Given the description of an element on the screen output the (x, y) to click on. 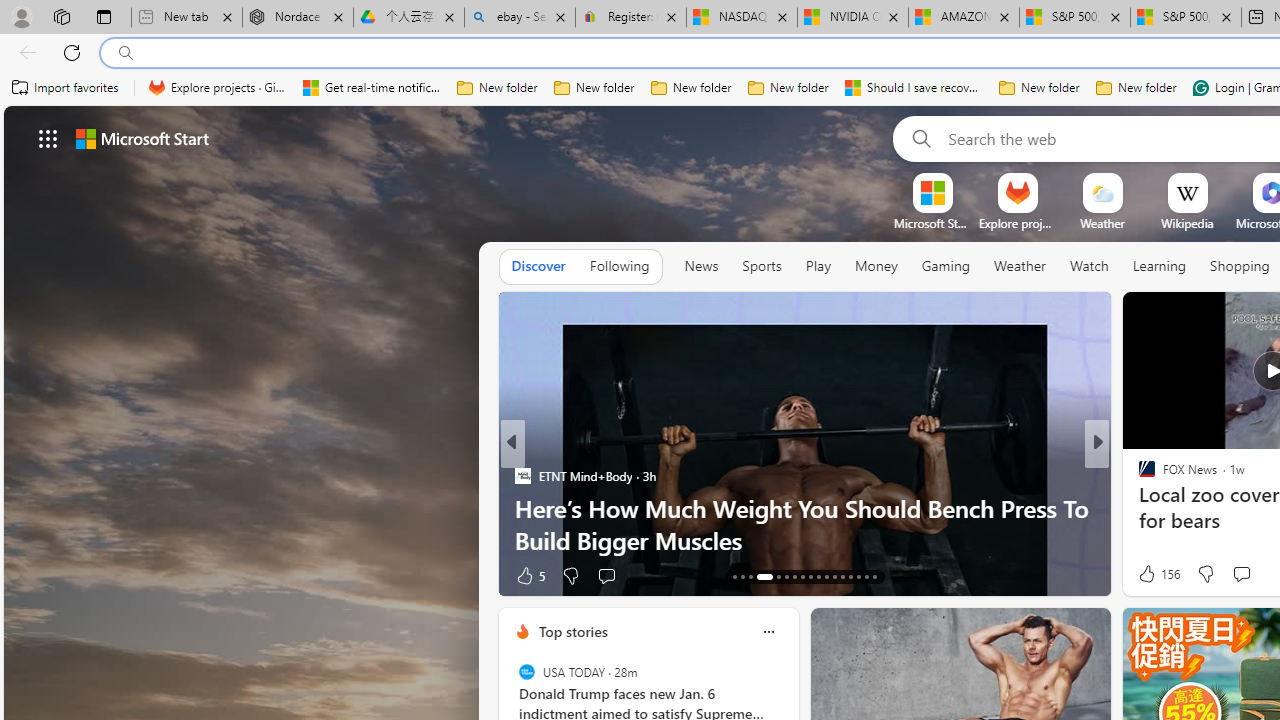
Gaming (945, 265)
Learning (1159, 265)
Dailymotion (1138, 507)
AutomationID: waffle (47, 138)
156 Like (1157, 574)
Import favorites (65, 88)
AutomationID: tab-19 (793, 576)
Play (818, 267)
AutomationID: tab-16 (763, 576)
ETNT Mind+Body (522, 475)
